Given the description of an element on the screen output the (x, y) to click on. 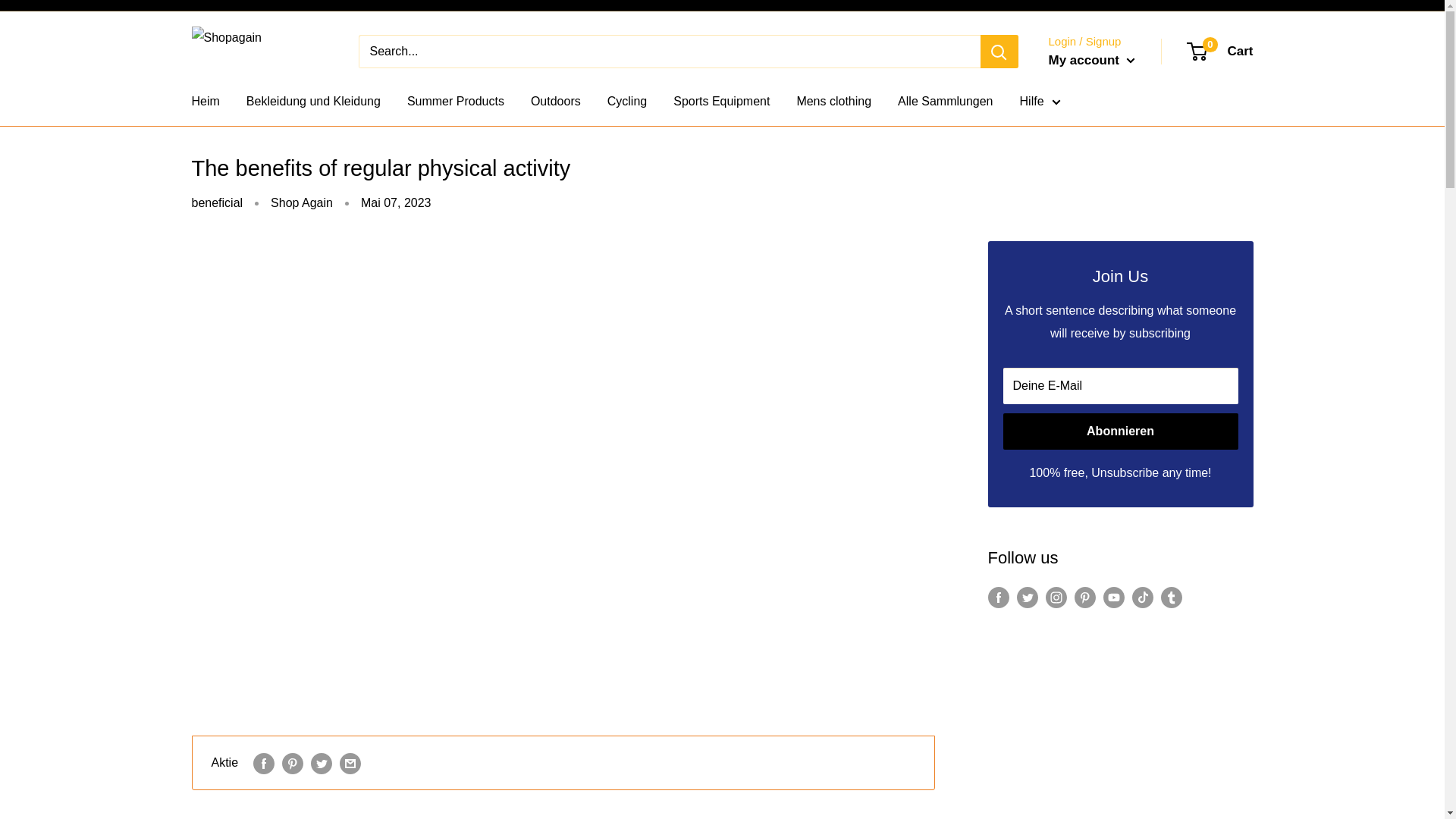
My account (1091, 60)
Bekleidung und Kleidung (313, 101)
Sports Equipment (1220, 51)
Outdoors (721, 101)
Heim (555, 101)
Summer Products (204, 101)
Cycling (455, 101)
Mens clothing (626, 101)
